Given the description of an element on the screen output the (x, y) to click on. 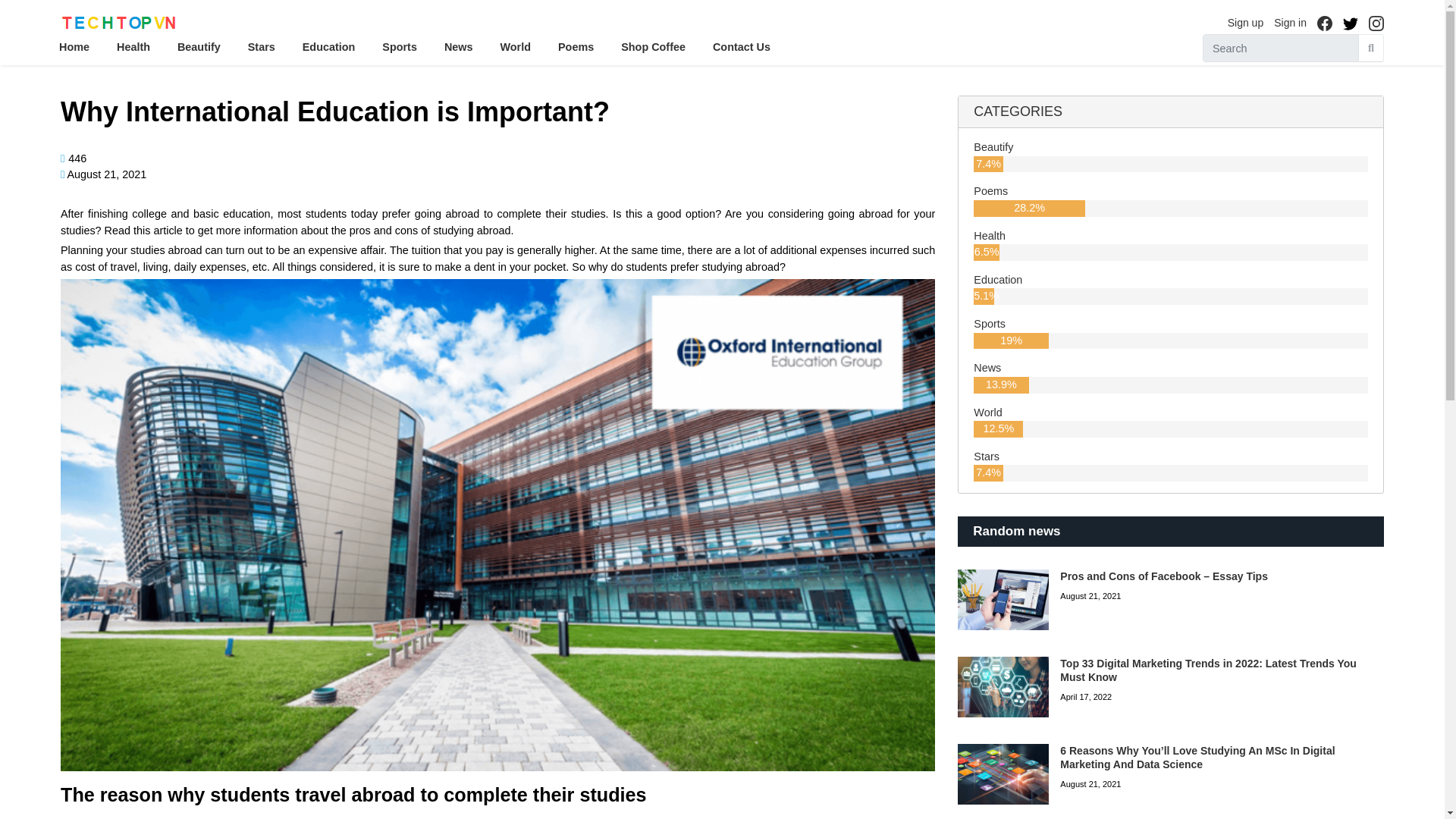
Health (990, 235)
Poems (990, 191)
News (987, 367)
World (987, 412)
Beautify (993, 146)
Education (998, 279)
News (987, 367)
Sports (990, 323)
Education (998, 279)
Sports (990, 323)
